Given the description of an element on the screen output the (x, y) to click on. 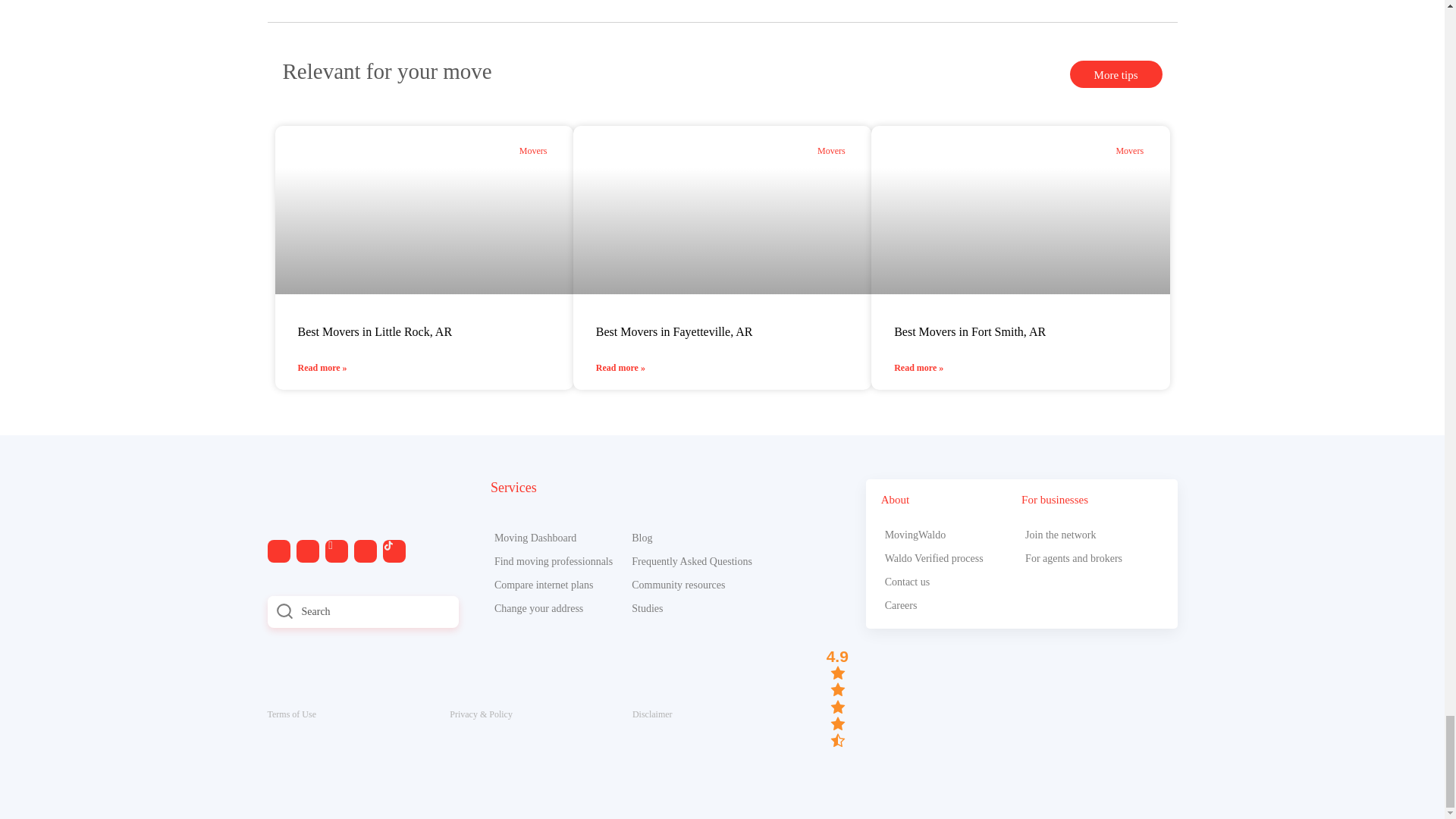
powered by Google (838, 760)
